Given the description of an element on the screen output the (x, y) to click on. 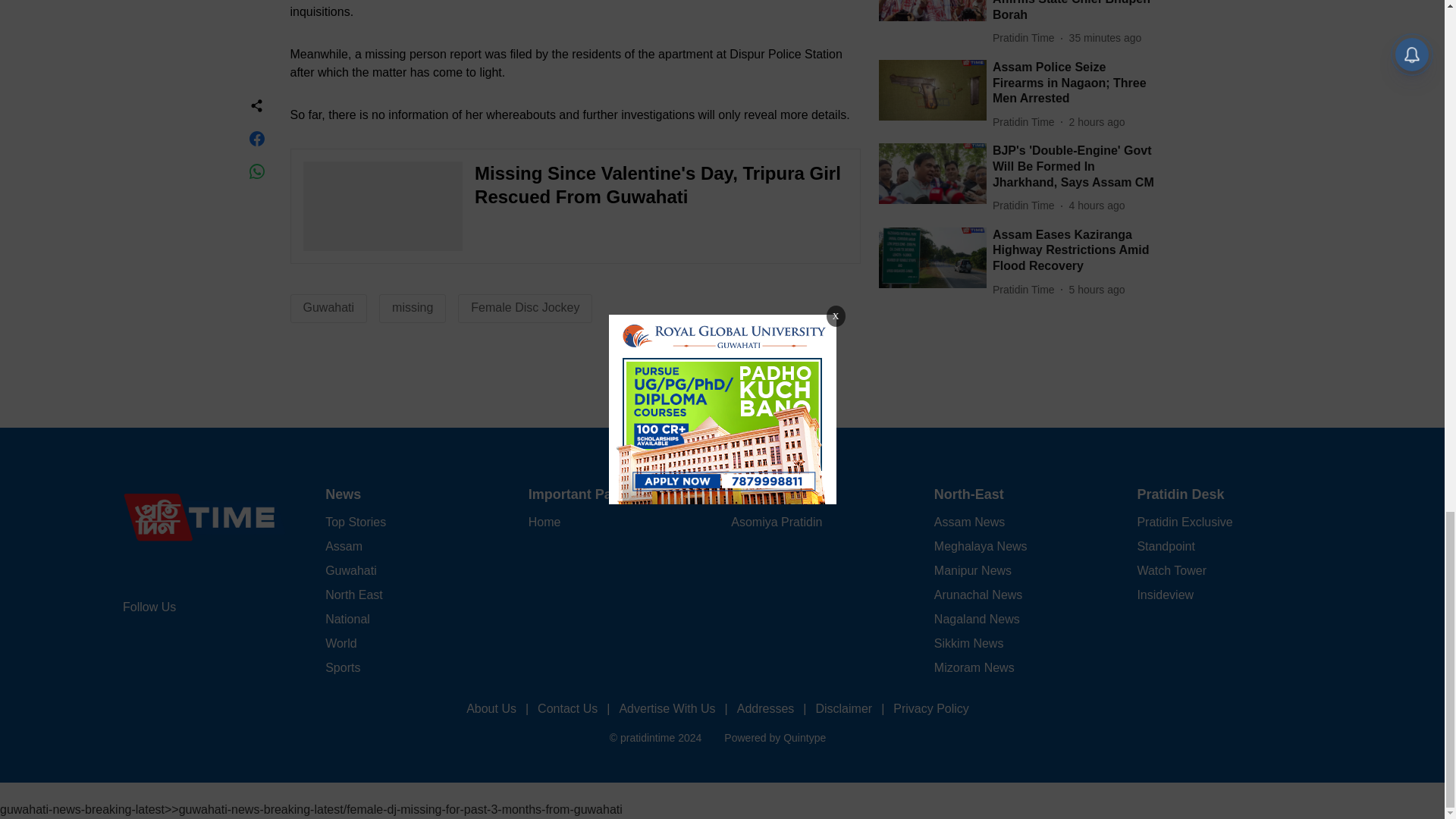
Female Disc Jockey (524, 307)
Guwahati (328, 307)
missing (411, 307)
